Given the description of an element on the screen output the (x, y) to click on. 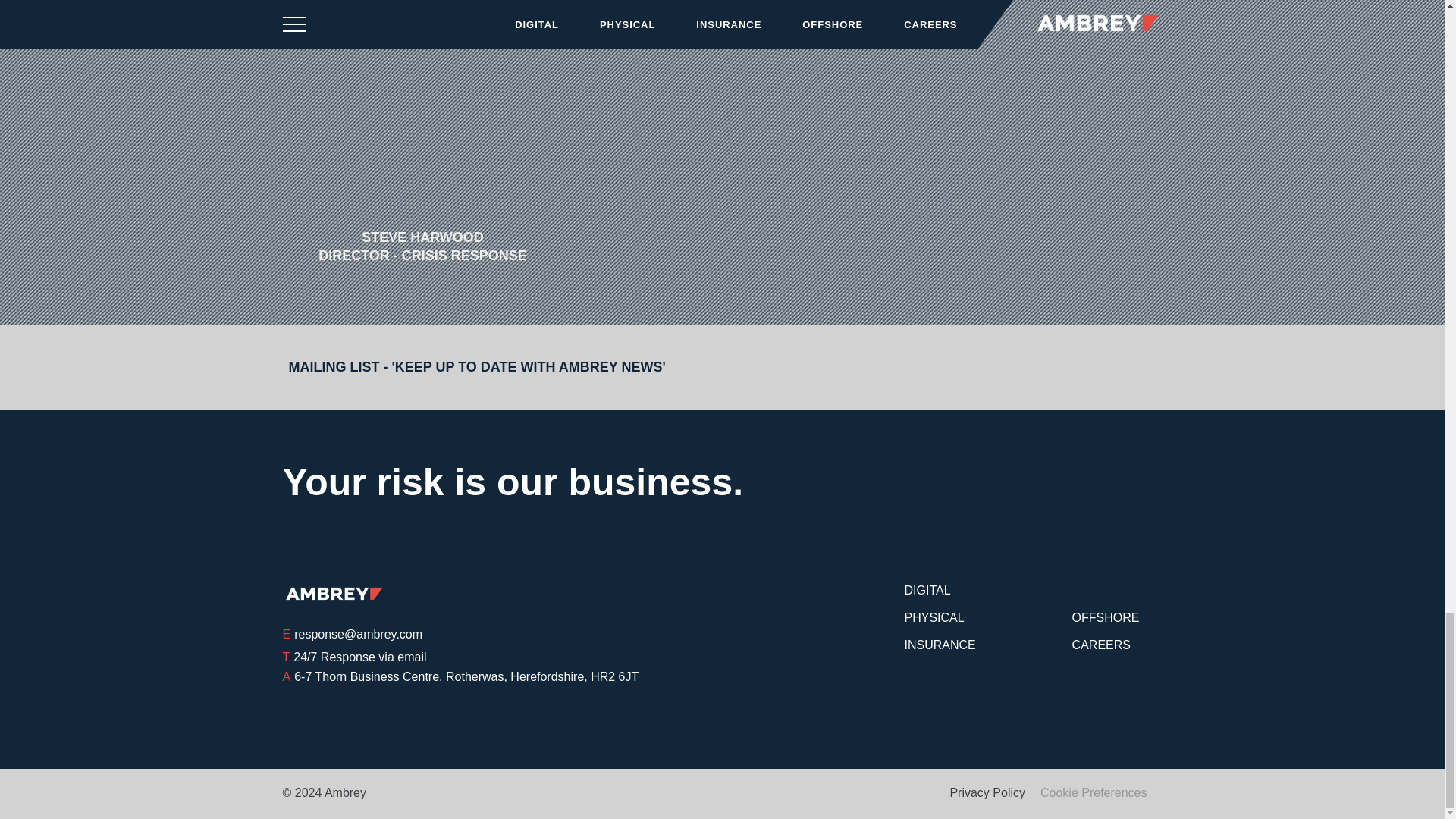
Cookie Preferences (1094, 791)
Privacy Policy (987, 792)
PH (861, 792)
OFFSHORE (1105, 616)
PHYSICAL (933, 616)
CAREERS (1101, 644)
INSURANCE (939, 644)
PH (893, 792)
DIGITAL (927, 589)
PH (925, 792)
